Given the description of an element on the screen output the (x, y) to click on. 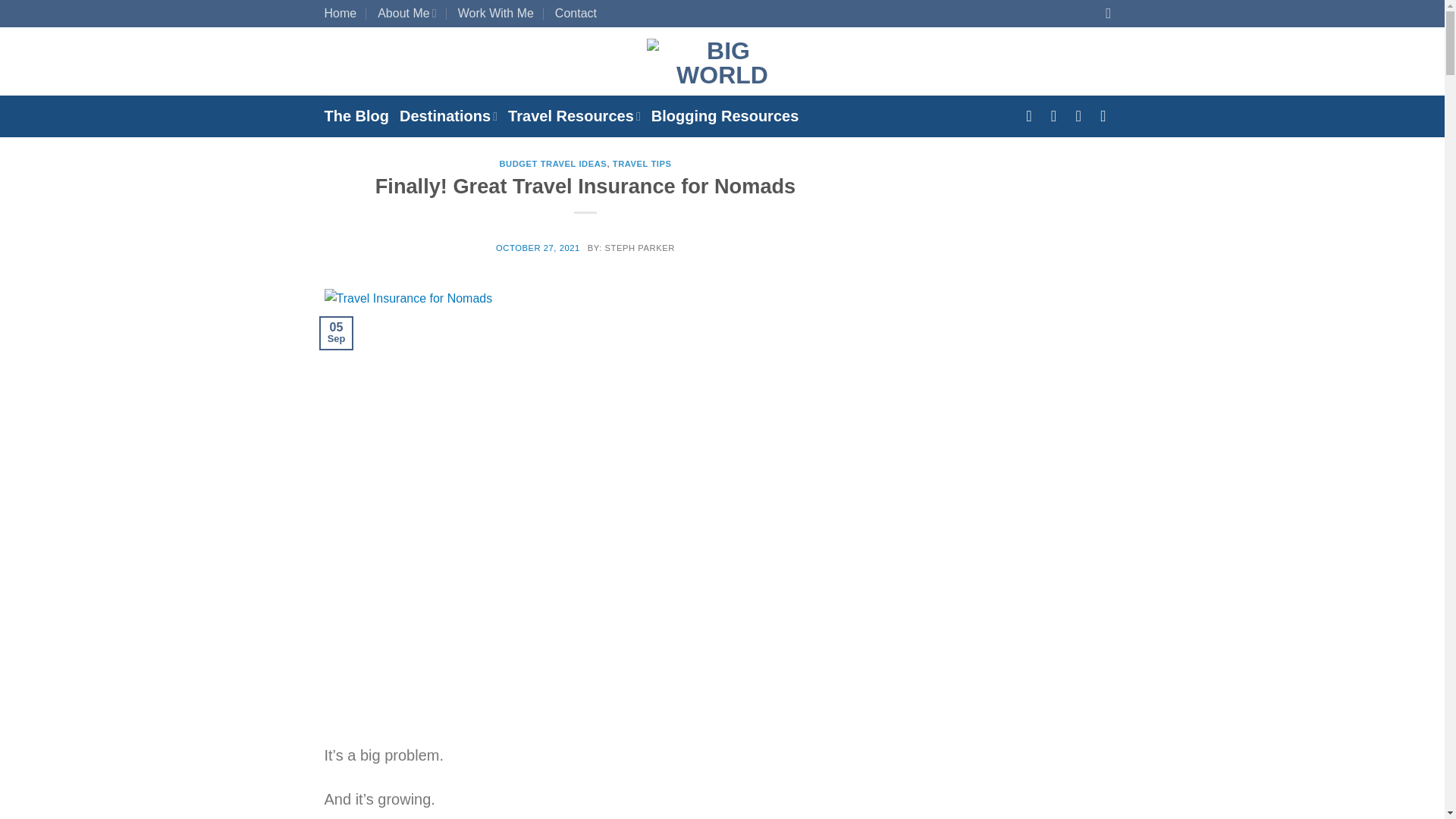
Follow on X (1107, 115)
Follow on TikTok (1082, 115)
Work With Me (496, 13)
Follow on Facebook (1033, 115)
Follow on Instagram (1058, 115)
Contact (575, 13)
Big World Small Pockets (721, 60)
The Blog (357, 115)
Home (340, 13)
About Me (406, 13)
Destinations (447, 116)
October 27, 2021 (537, 247)
